Given the description of an element on the screen output the (x, y) to click on. 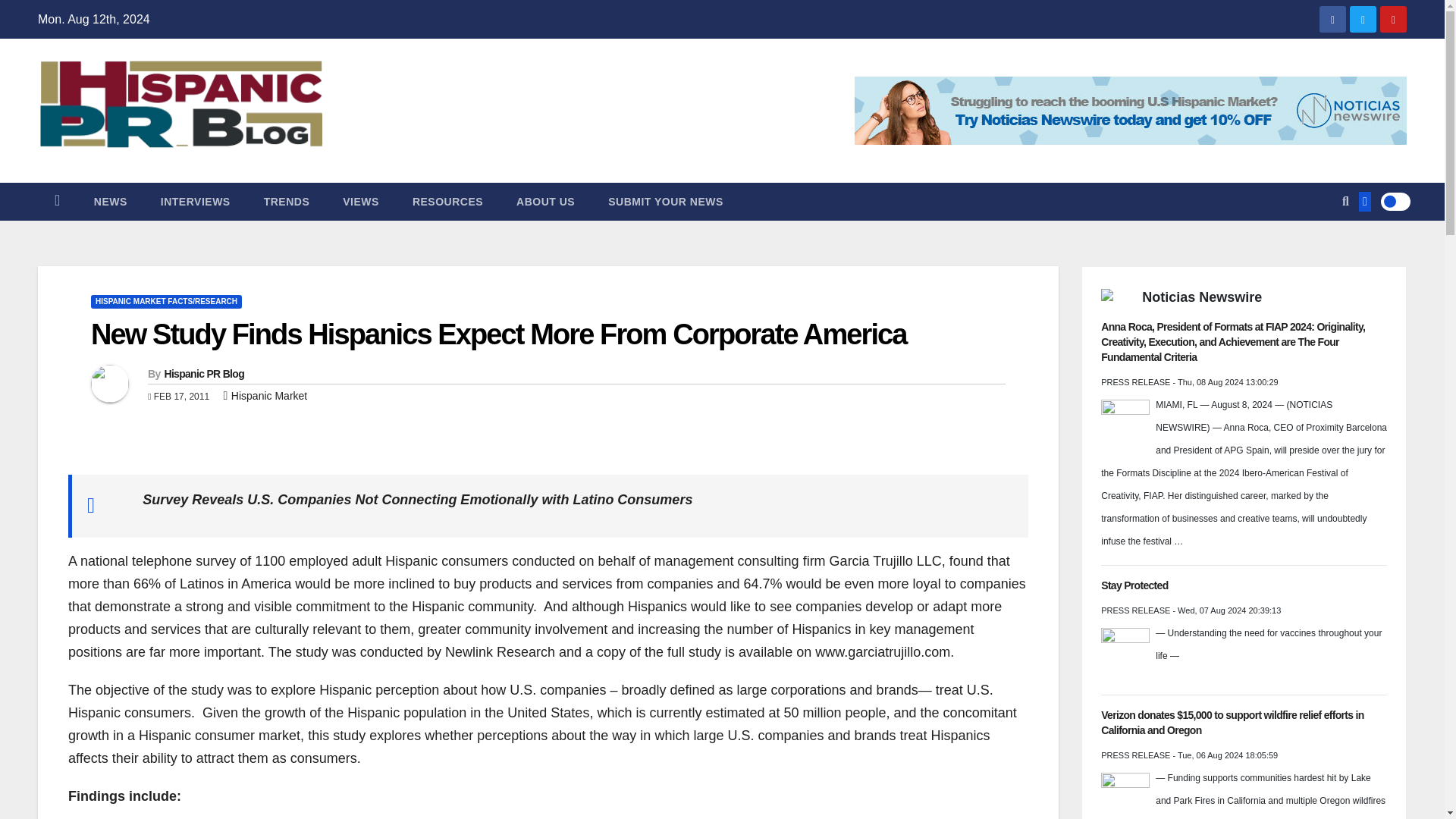
Home (57, 201)
TRENDS (286, 201)
NEWS (110, 201)
VIEWS (361, 201)
Trends (286, 201)
RESOURCES (447, 201)
INTERVIEWS (195, 201)
Interviews (195, 201)
News (110, 201)
